Given the description of an element on the screen output the (x, y) to click on. 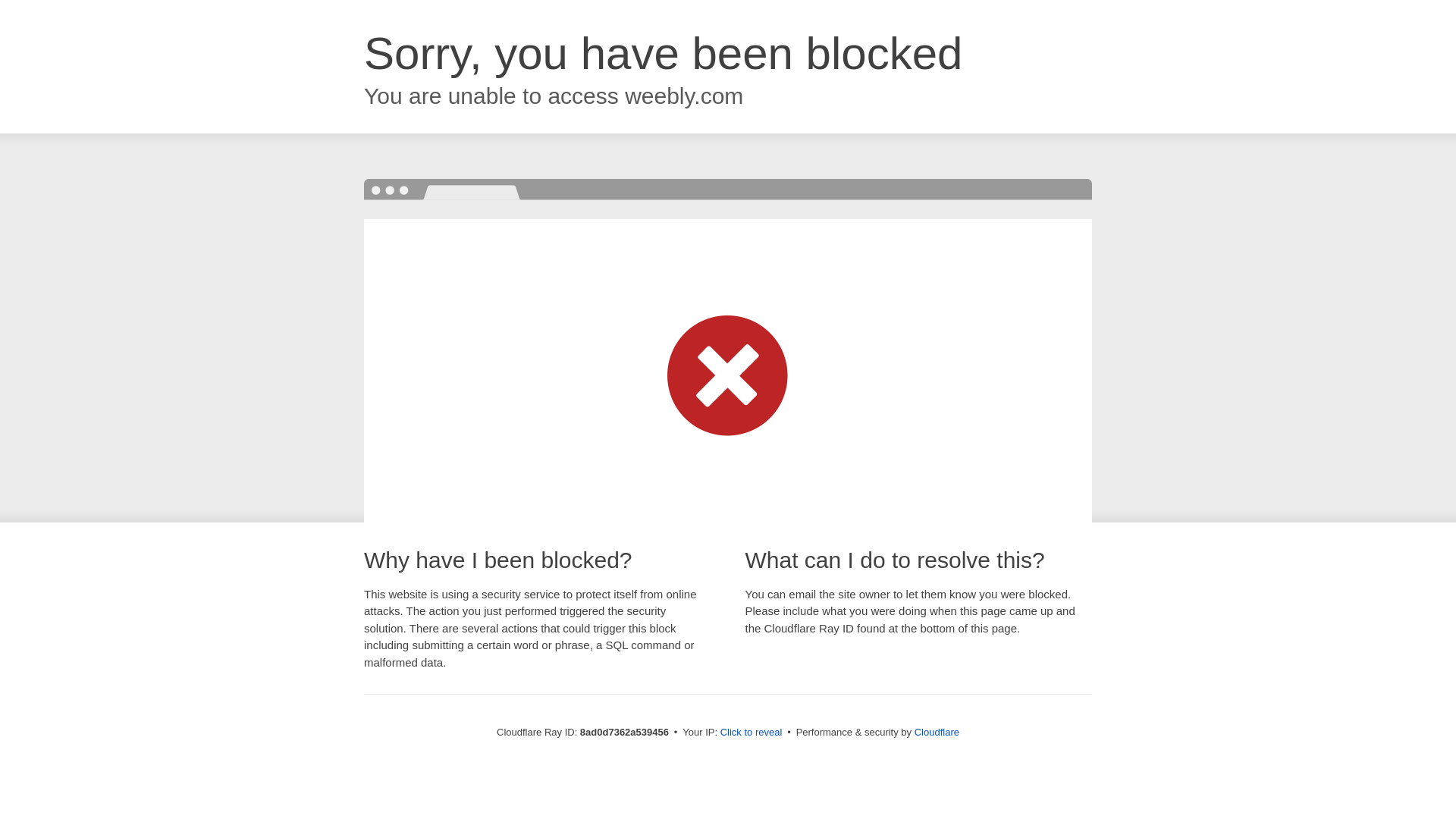
Cloudflare (936, 731)
Click to reveal (751, 732)
